Given the description of an element on the screen output the (x, y) to click on. 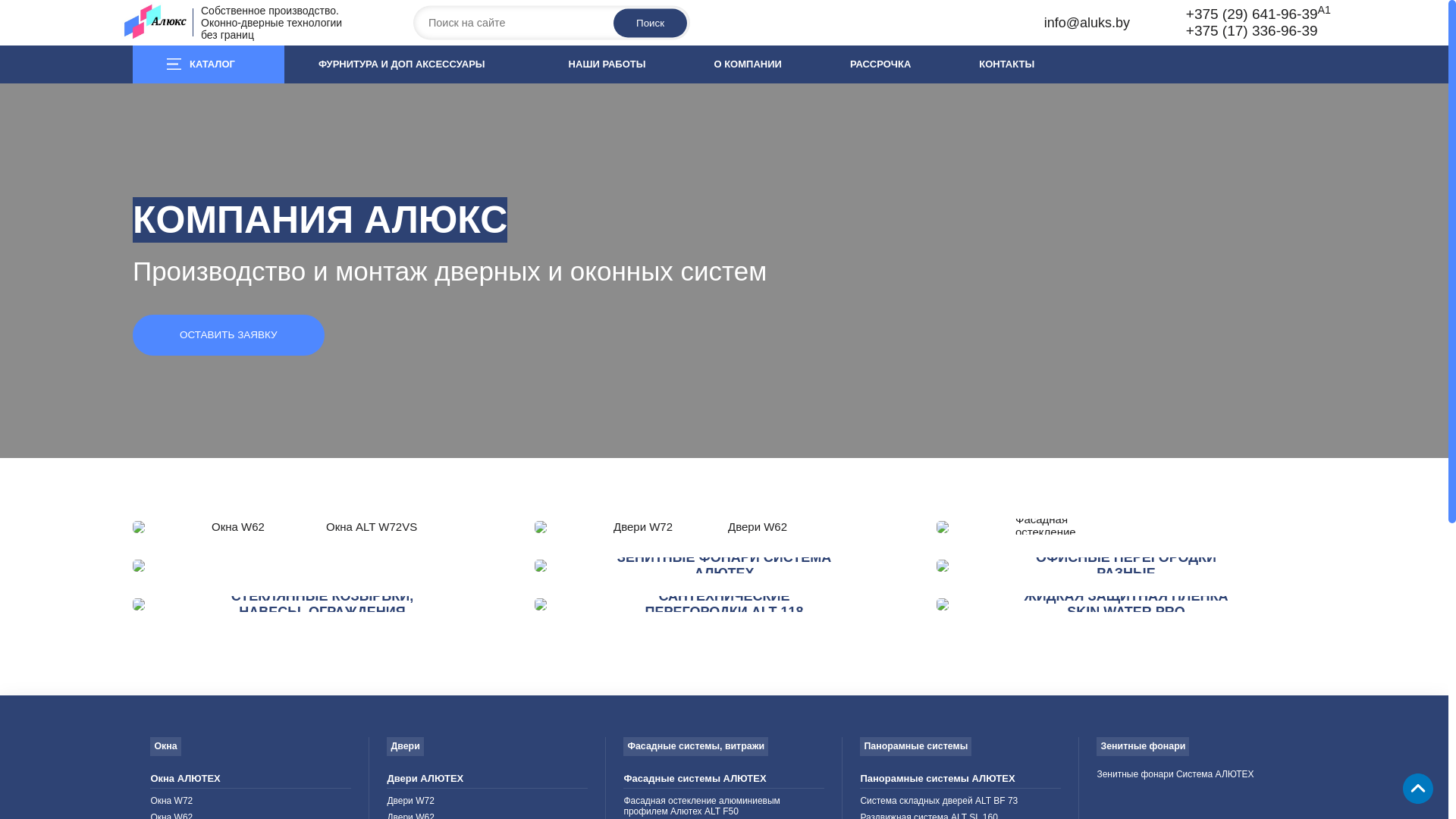
info@aluks.by Element type: text (1086, 23)
+375 (17) 336-96-39 Element type: text (1251, 30)
